Given the description of an element on the screen output the (x, y) to click on. 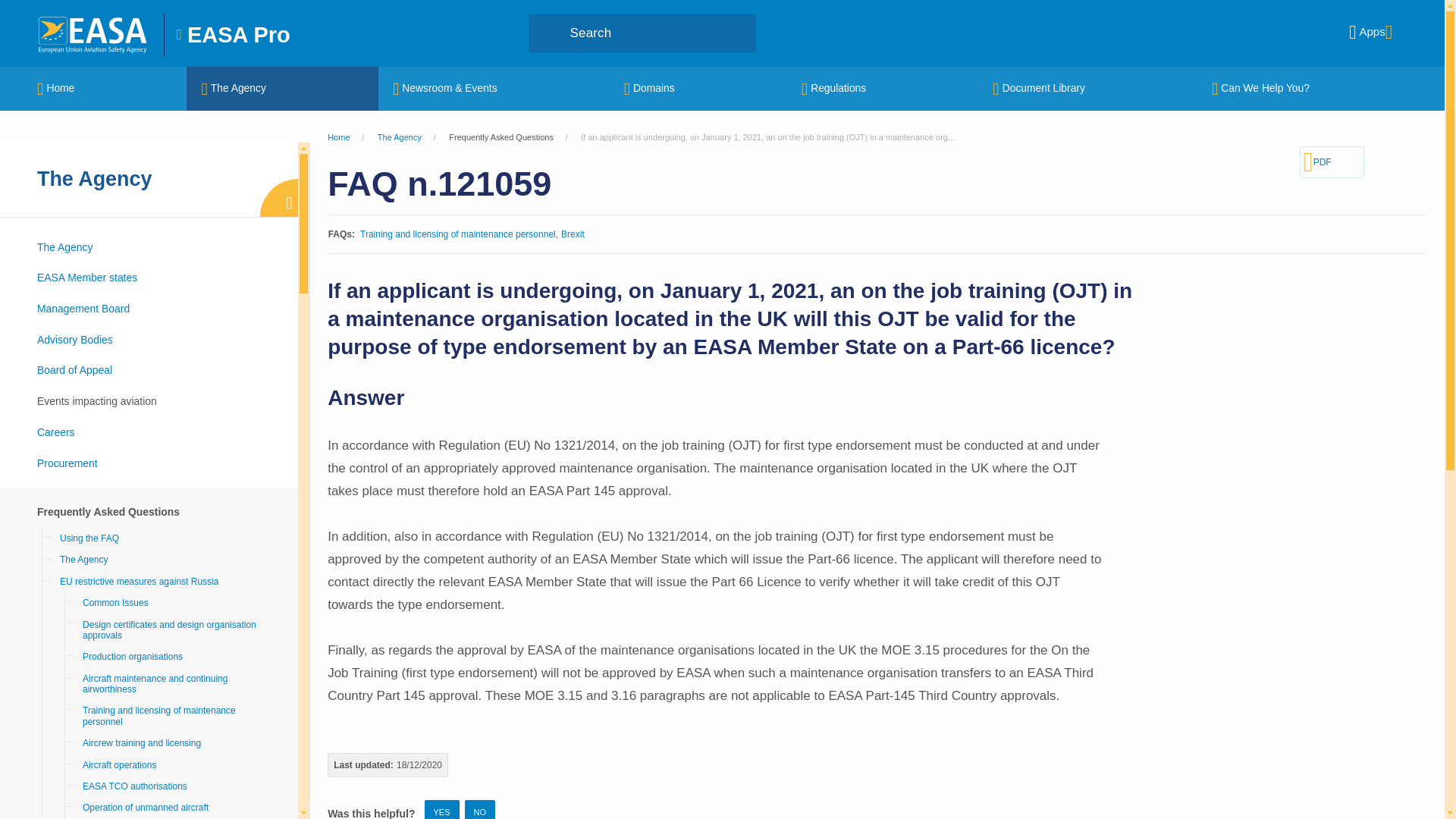
Brexit (572, 234)
Home (94, 33)
Training and licensing of maintenance personnel  (457, 234)
